Given the description of an element on the screen output the (x, y) to click on. 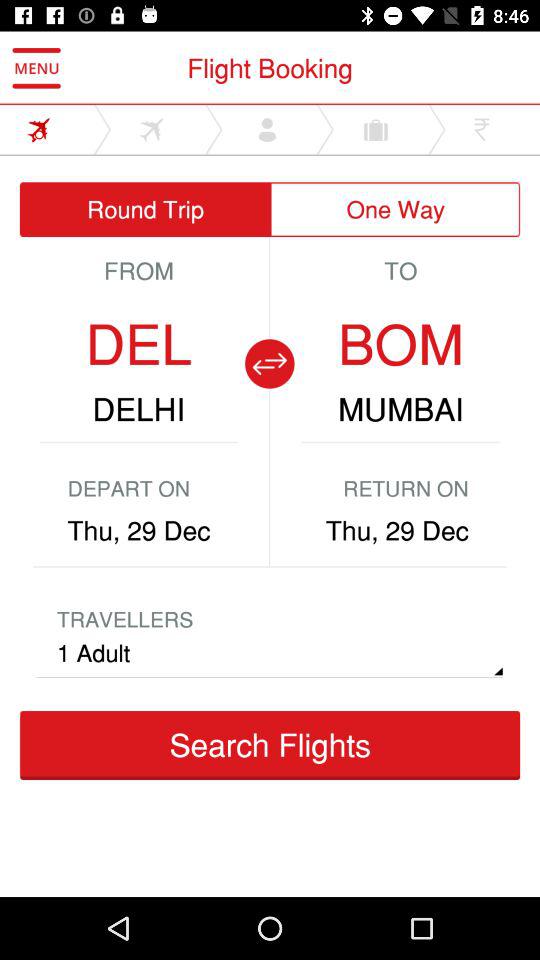
select item next to one way icon (145, 209)
